Given the description of an element on the screen output the (x, y) to click on. 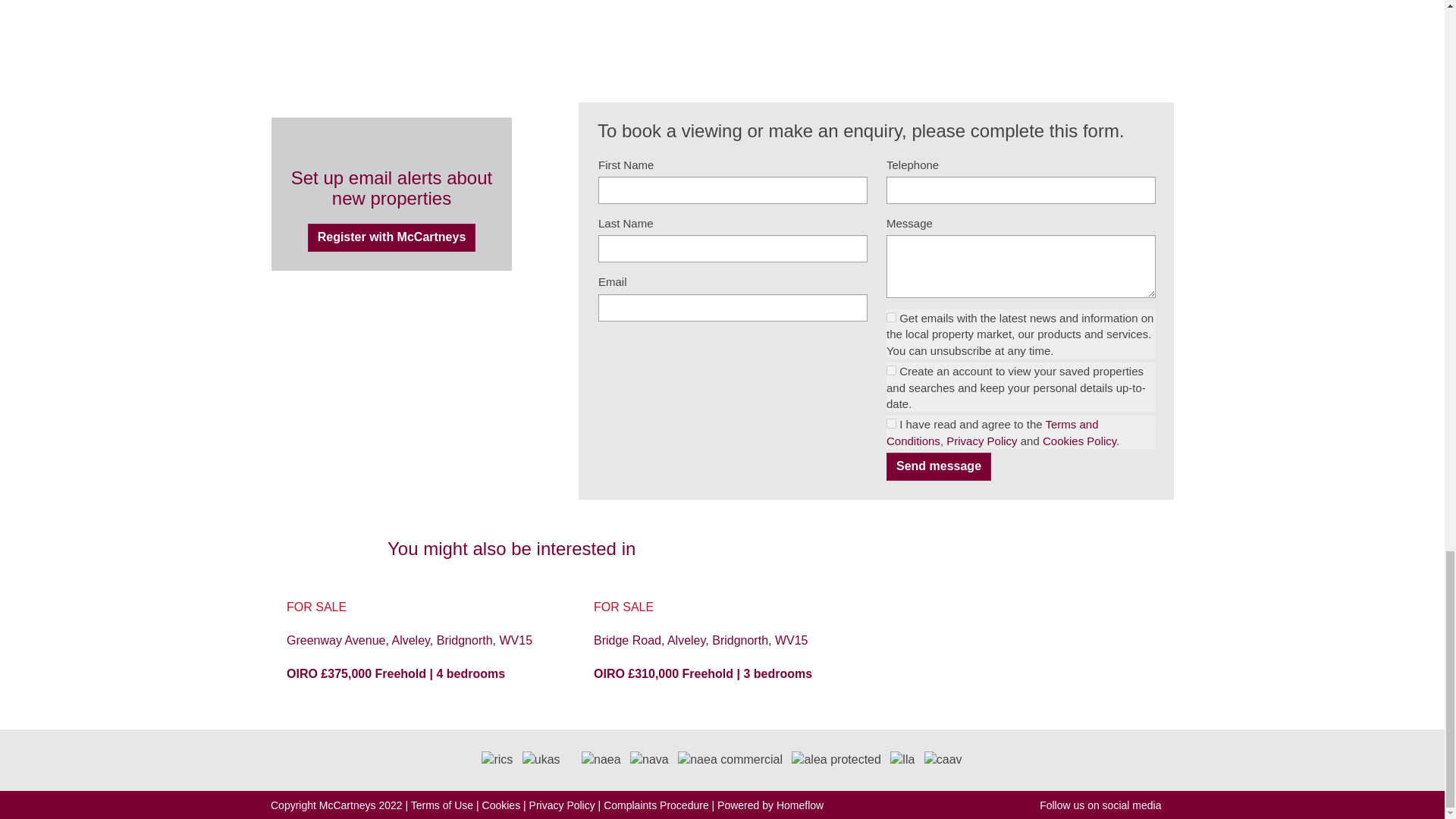
on (891, 370)
on (891, 423)
on (891, 317)
